Given the description of an element on the screen output the (x, y) to click on. 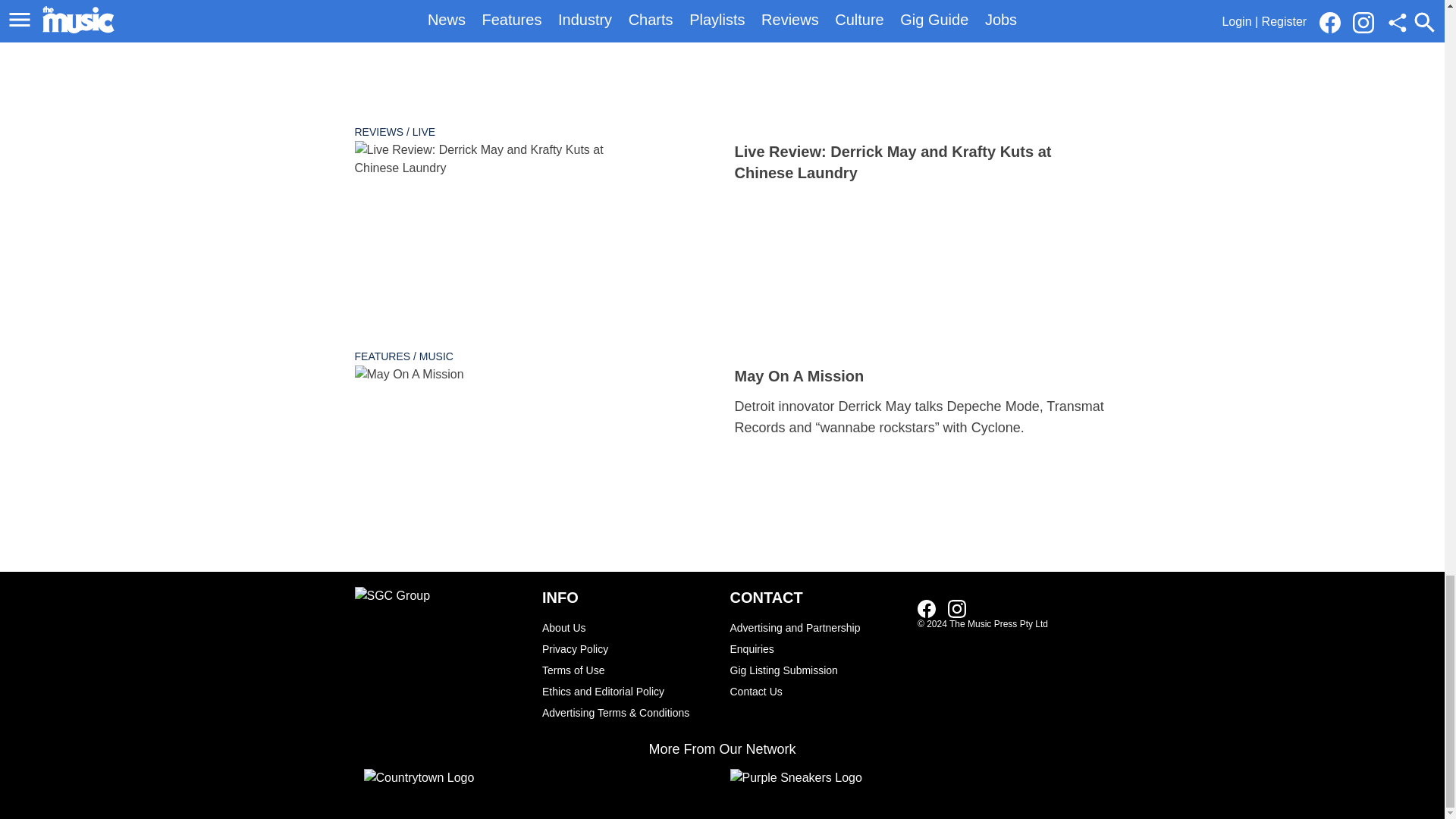
About Us (627, 627)
Ethics and Editorial Policy (627, 690)
Advertising and Partnership Enquiries (815, 638)
Link to our Facebook (926, 608)
Gig Listing Submission (815, 670)
Privacy Policy (627, 649)
Contact Us (815, 690)
Terms of Use (627, 670)
Link to our Instagram (956, 608)
